Given the description of an element on the screen output the (x, y) to click on. 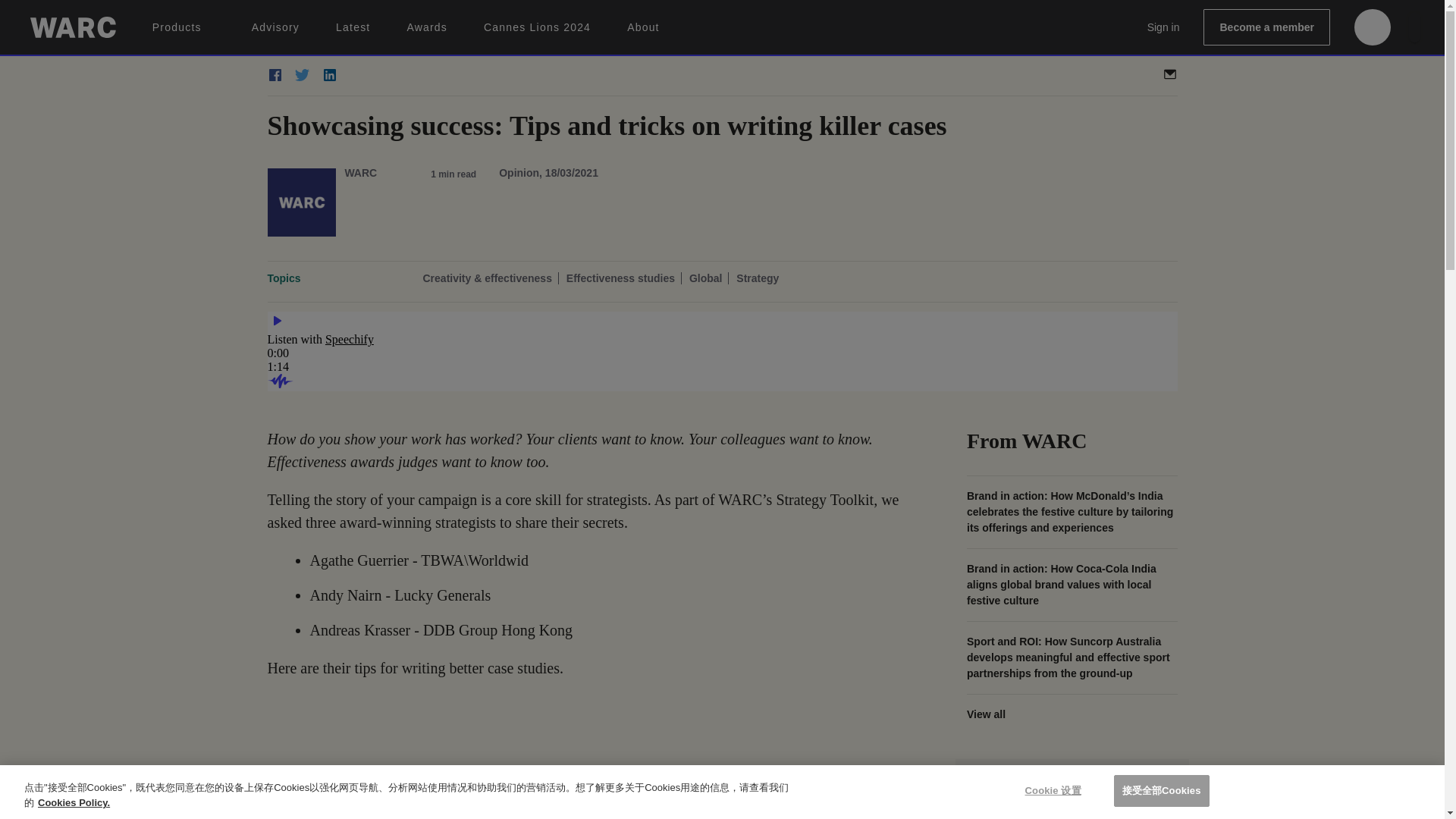
Cannes Lions 2024 (537, 27)
About (643, 27)
Latest (352, 27)
Become a member (1267, 27)
Products (183, 27)
Advisory (275, 27)
Sign in (1163, 27)
Awards (426, 27)
